Given the description of an element on the screen output the (x, y) to click on. 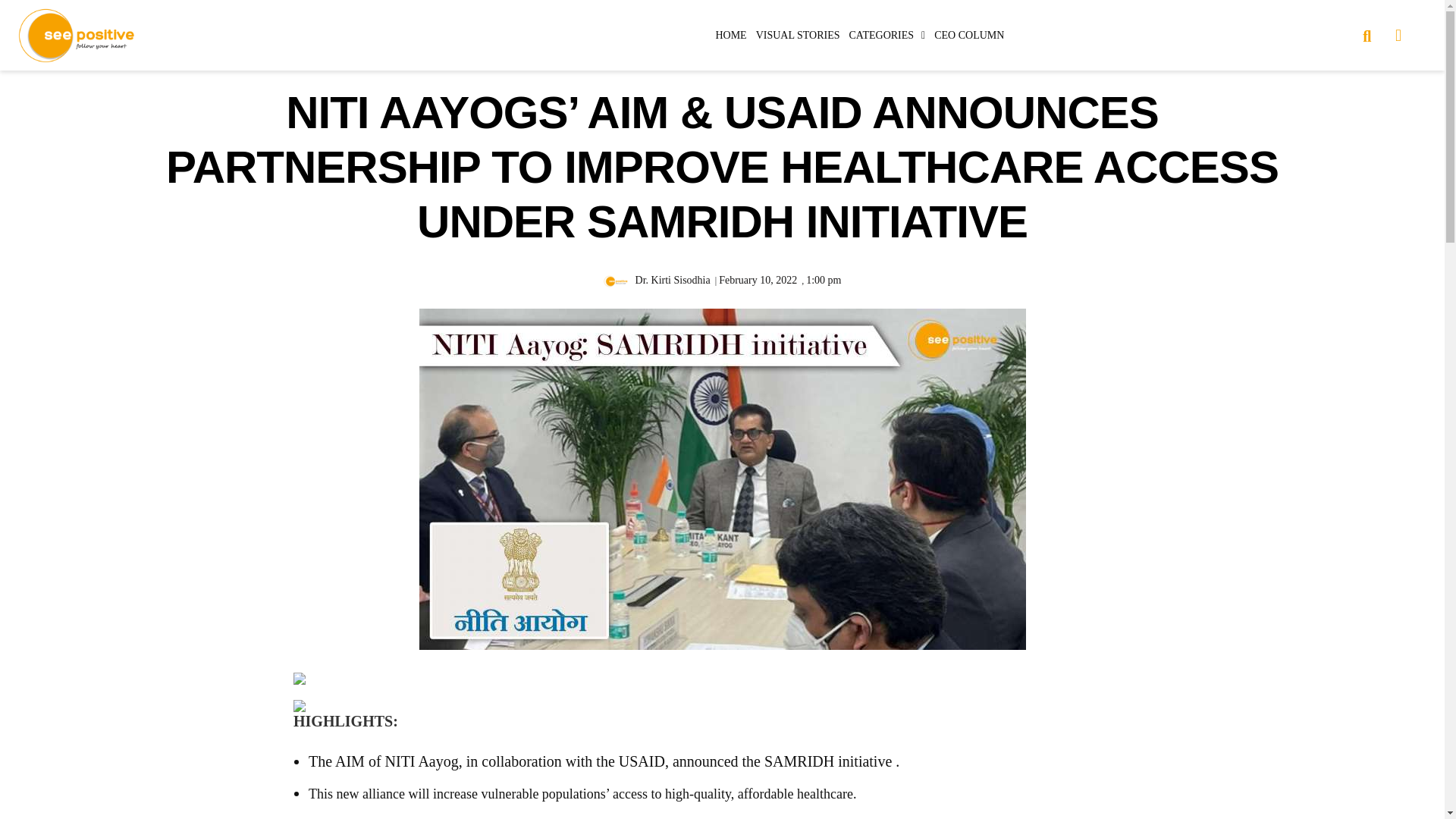
CEO COLUMN (969, 35)
Search (1359, 34)
CATEGORIES (887, 35)
Advertisement (149, 749)
Advertisement (1293, 749)
VISUAL STORIES (797, 35)
HOME (729, 35)
